Given the description of an element on the screen output the (x, y) to click on. 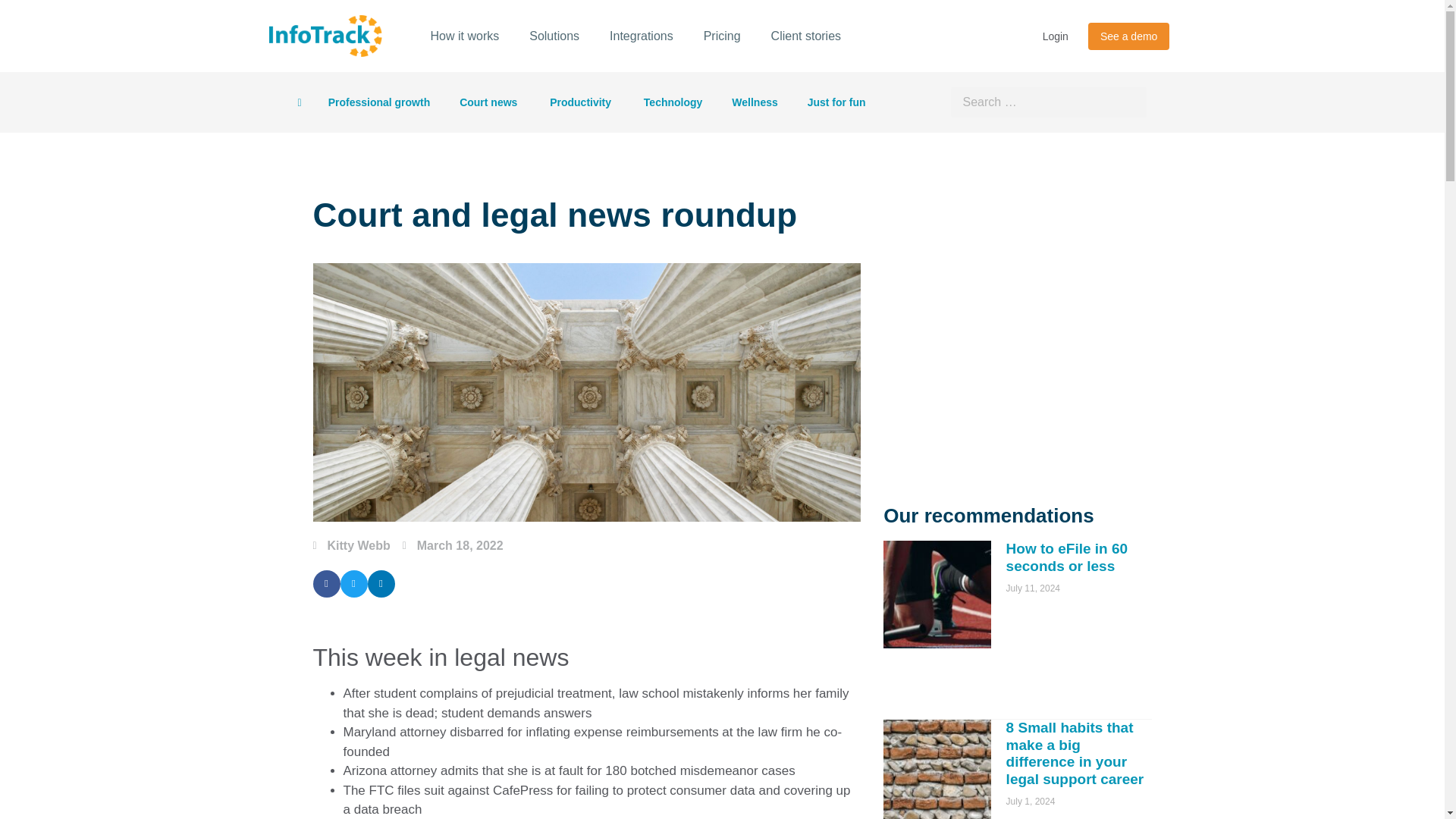
Solutions (553, 36)
How to eFile in 60 seconds or less (1066, 557)
 Productivity  (580, 102)
Login (1055, 35)
Client stories (805, 36)
Professional growth (379, 102)
Technology (673, 102)
See a demo (1128, 35)
March 18, 2022 (453, 546)
Integrations (641, 36)
How it works (464, 36)
Wellness (754, 102)
Kitty Webb (351, 546)
Just for fun (837, 102)
